Given the description of an element on the screen output the (x, y) to click on. 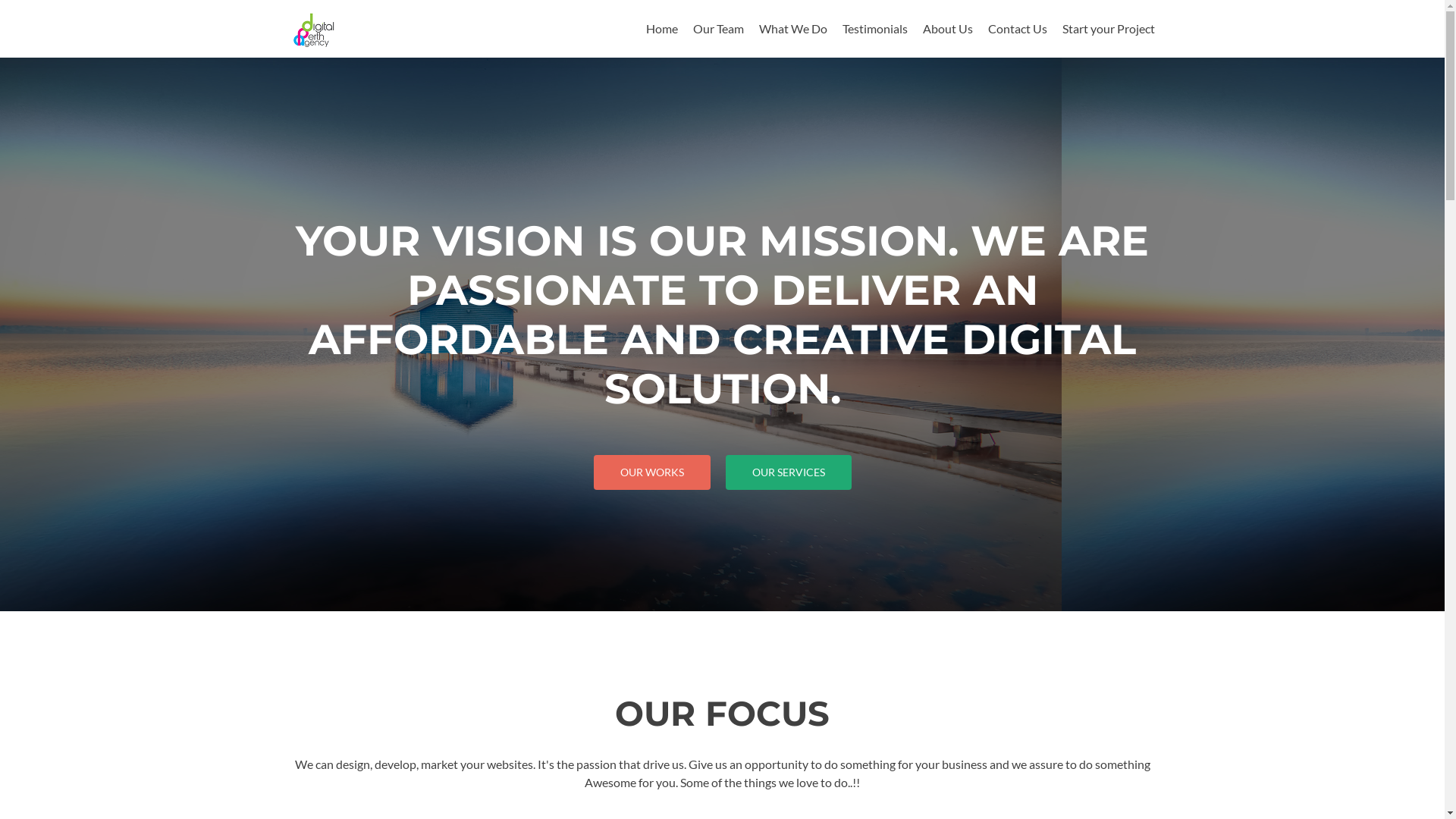
Home Element type: text (661, 28)
About Us Element type: text (947, 28)
Testimonials Element type: text (873, 28)
Start your Project Element type: text (1107, 28)
Our Team Element type: text (718, 28)
What We Do Element type: text (792, 28)
Contact Us Element type: text (1016, 28)
OUR SERVICES Element type: text (787, 472)
OUR WORKS Element type: text (651, 472)
